Given the description of an element on the screen output the (x, y) to click on. 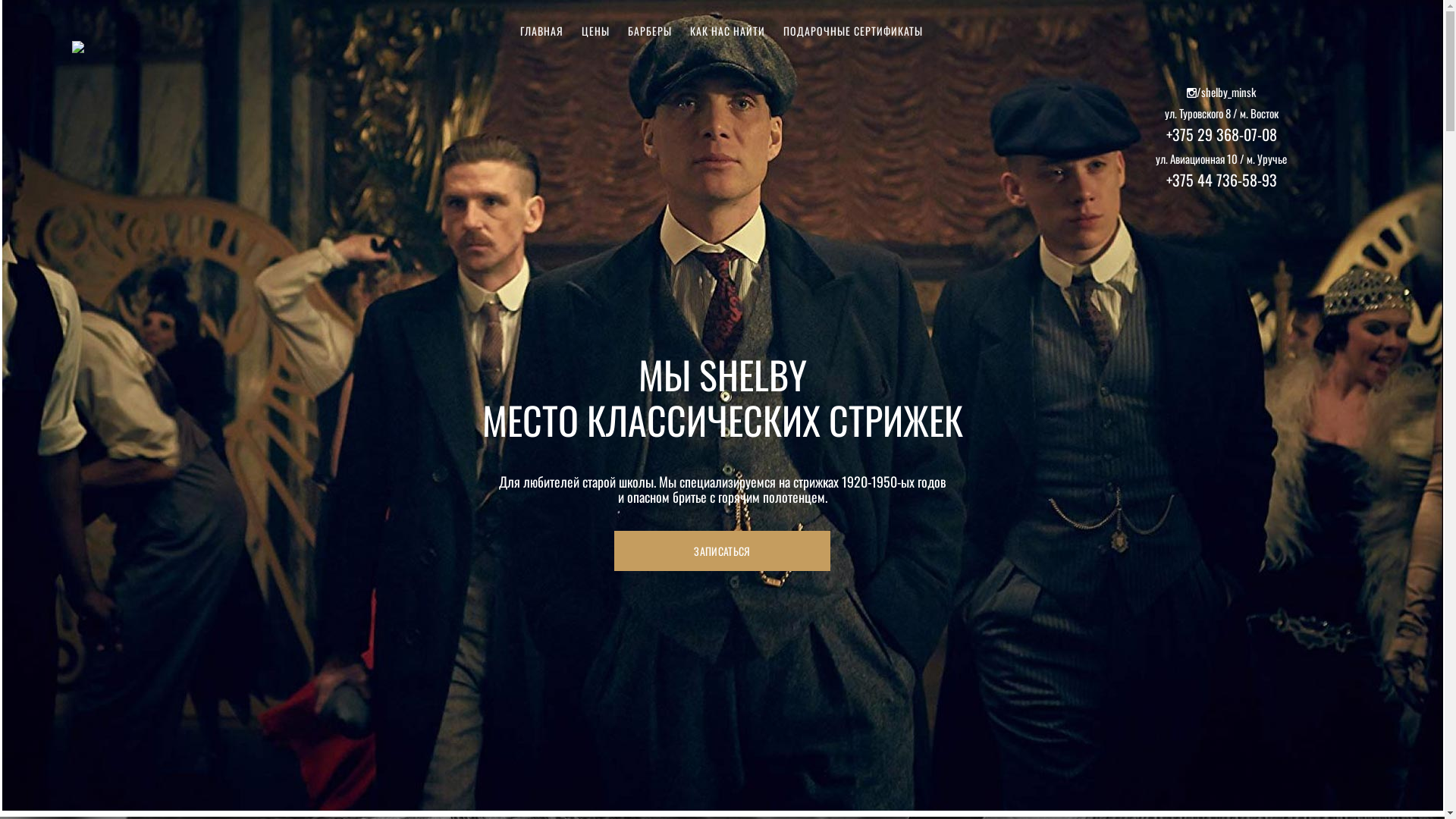
/shelby_minsk Element type: text (1220, 92)
